Given the description of an element on the screen output the (x, y) to click on. 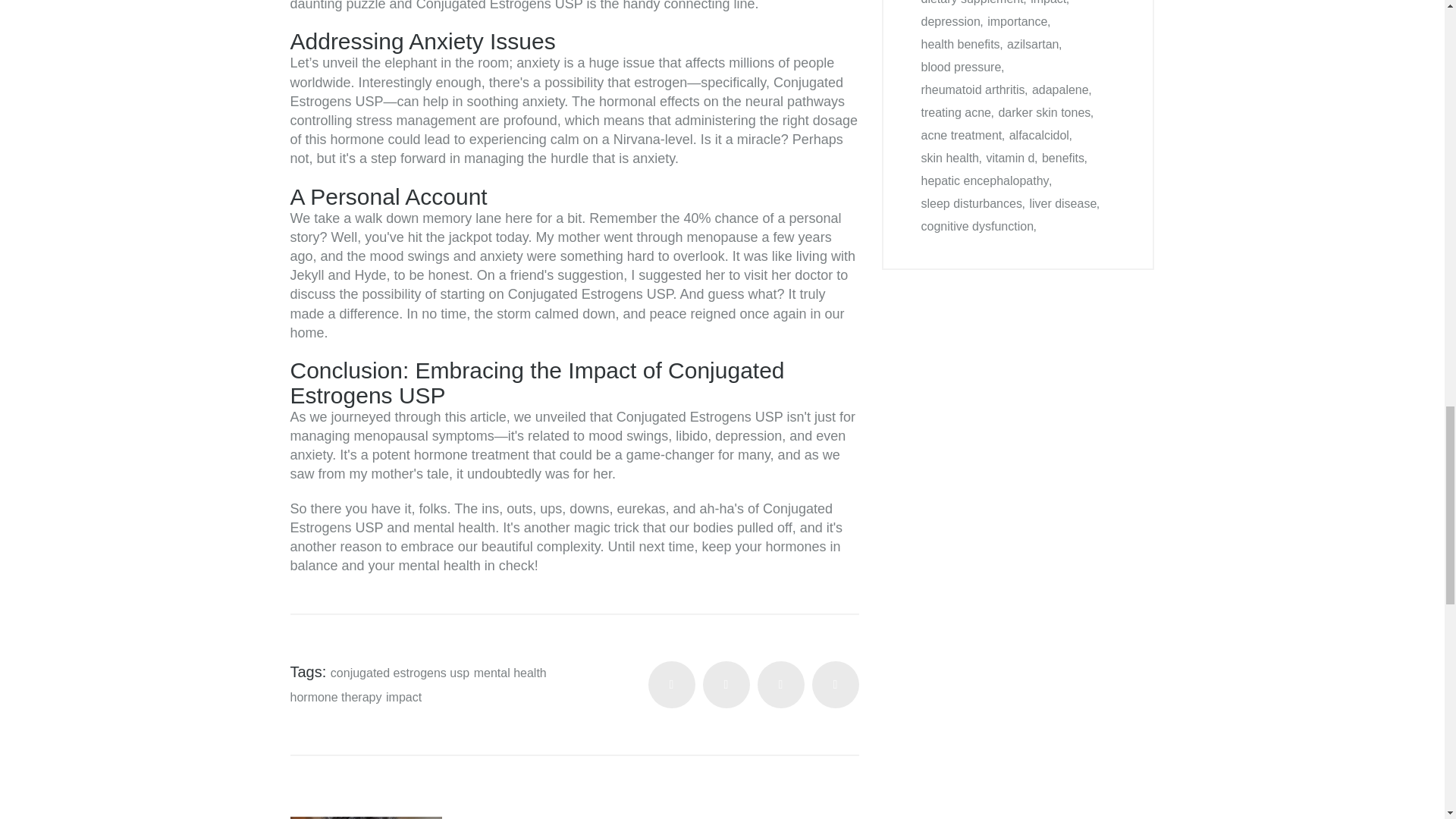
depression (949, 21)
dietary supplement (971, 2)
mental health (510, 672)
conjugated estrogens usp (399, 672)
impact (403, 697)
azilsartan (1032, 43)
hormone therapy (335, 697)
blood pressure (960, 66)
impact (1047, 2)
rheumatoid arthritis (972, 89)
health benefits (959, 43)
importance (1016, 21)
